Given the description of an element on the screen output the (x, y) to click on. 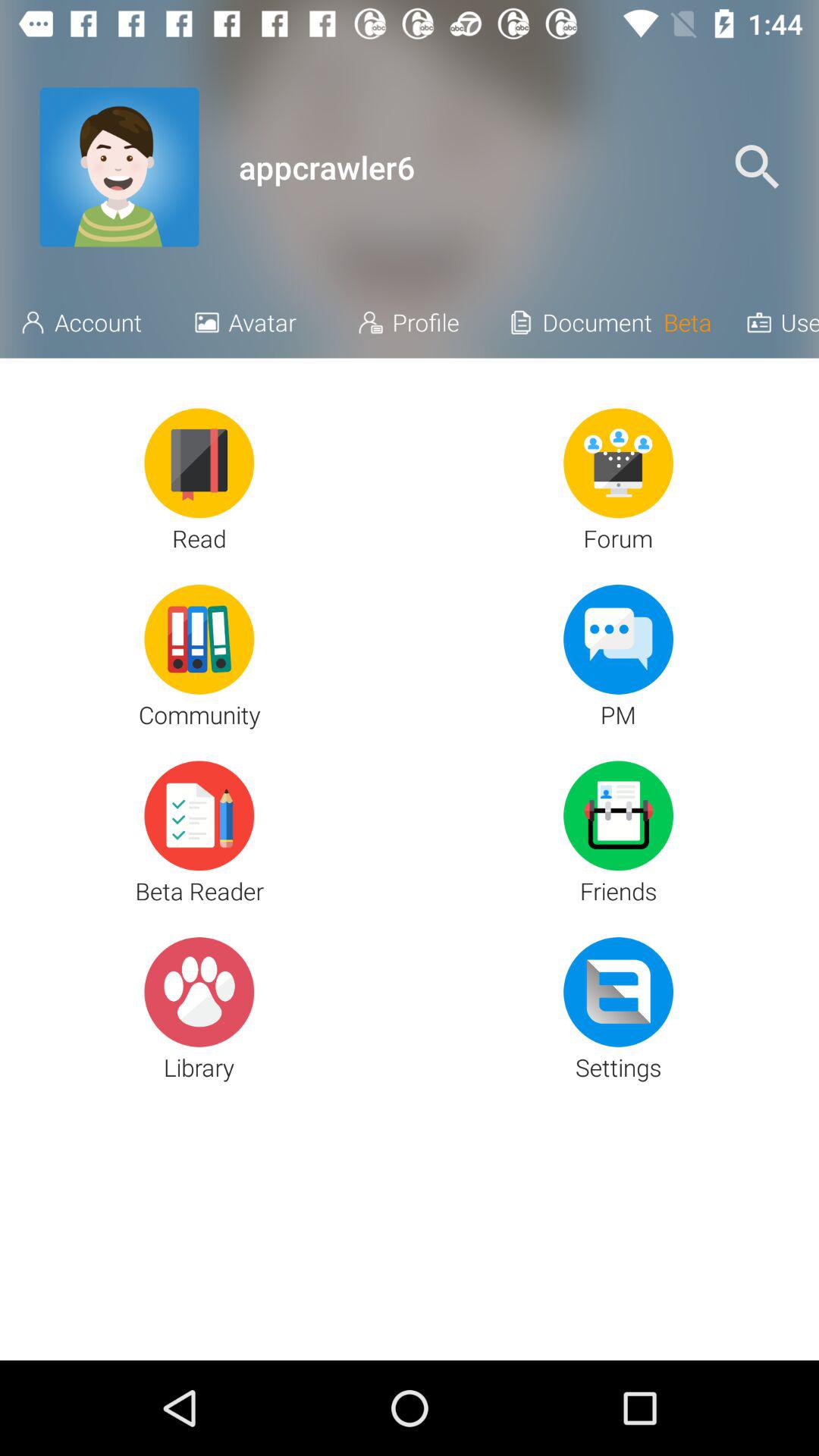
turn off item above account icon (119, 166)
